Given the description of an element on the screen output the (x, y) to click on. 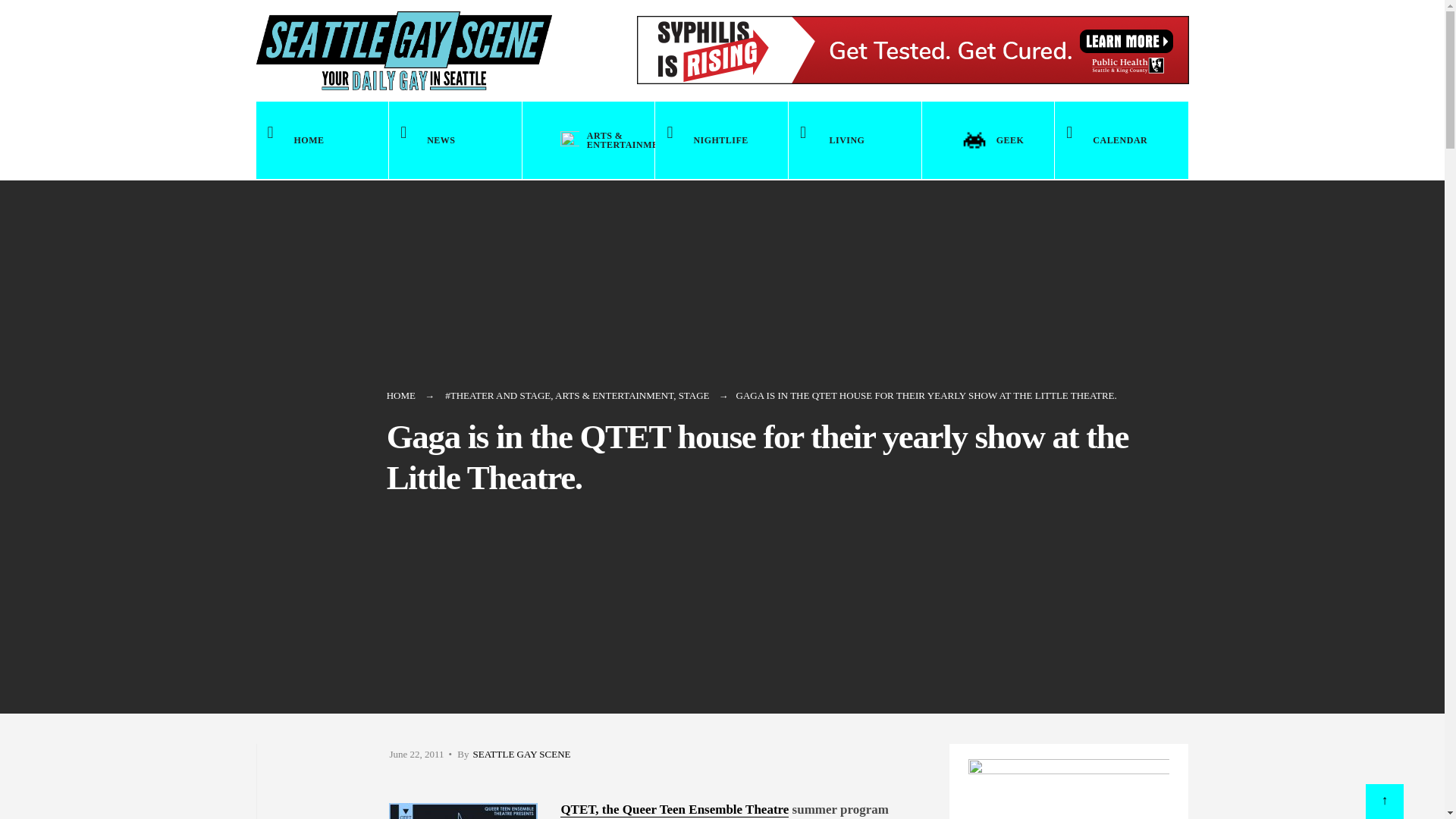
HOME (400, 395)
NIGHTLIFE (721, 140)
QTET, the Queer Teen Ensemble Theatre (674, 809)
HOME (322, 140)
NEWS (454, 140)
Posts by Seattle Gay Scene (520, 754)
CALENDAR (1121, 140)
STAGE (694, 395)
GEEK (987, 140)
SEATTLE GAY SCENE (520, 754)
